Given the description of an element on the screen output the (x, y) to click on. 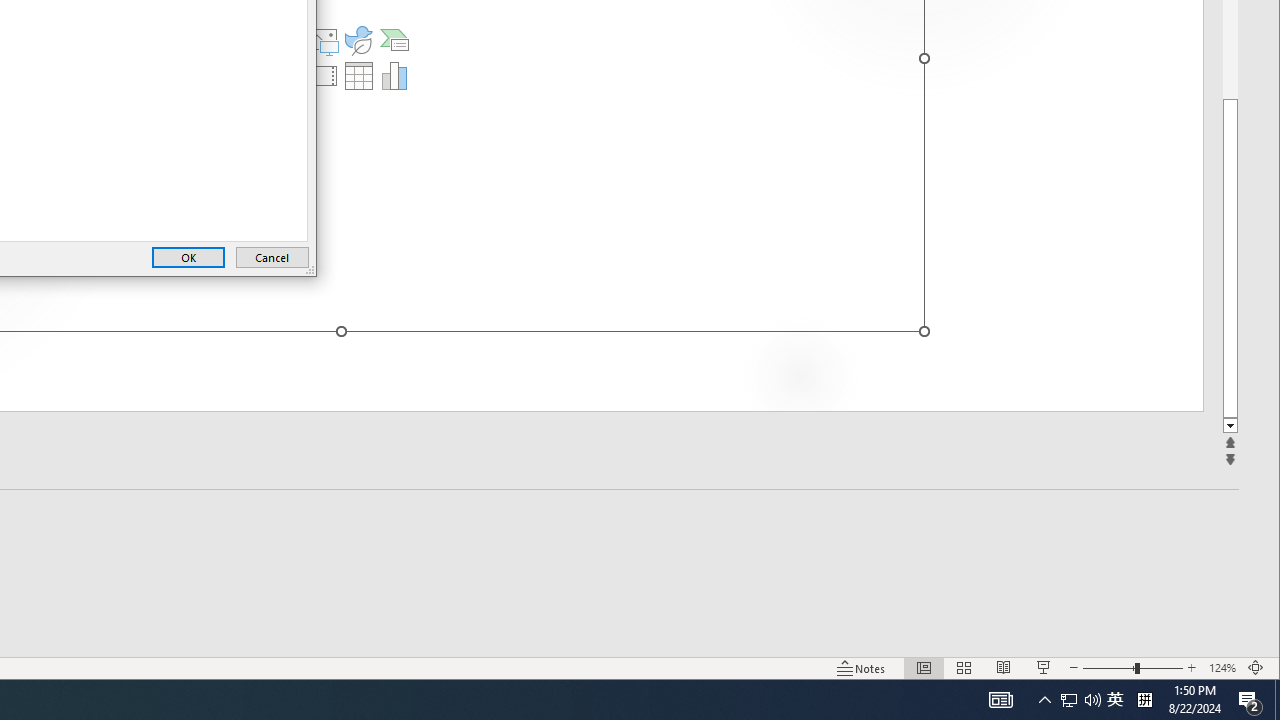
Cancel (272, 257)
Insert a SmartArt Graphic (394, 39)
Zoom 124% (1222, 668)
Insert Table (359, 75)
Insert an Icon (359, 39)
